Given the description of an element on the screen output the (x, y) to click on. 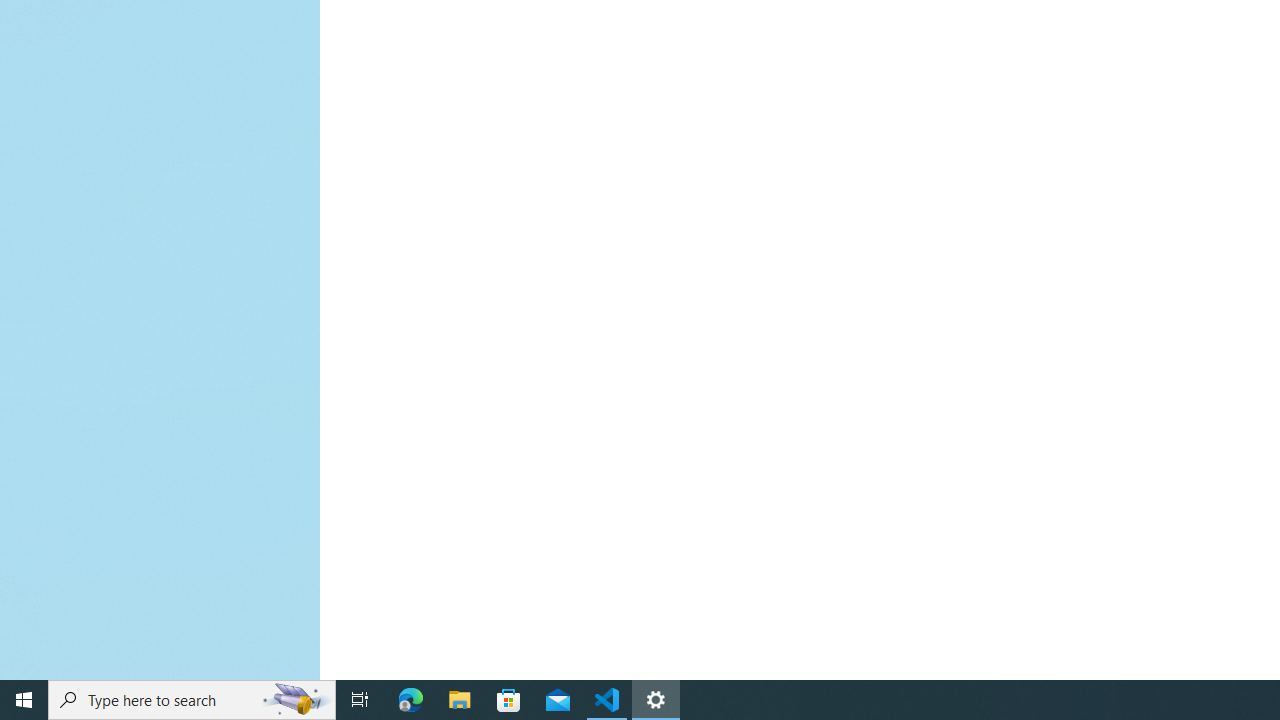
Microsoft Store (509, 699)
Start (24, 699)
Type here to search (191, 699)
Settings - 1 running window (656, 699)
Search highlights icon opens search home window (295, 699)
File Explorer (460, 699)
Visual Studio Code - 1 running window (607, 699)
Microsoft Edge (411, 699)
Task View (359, 699)
